Given the description of an element on the screen output the (x, y) to click on. 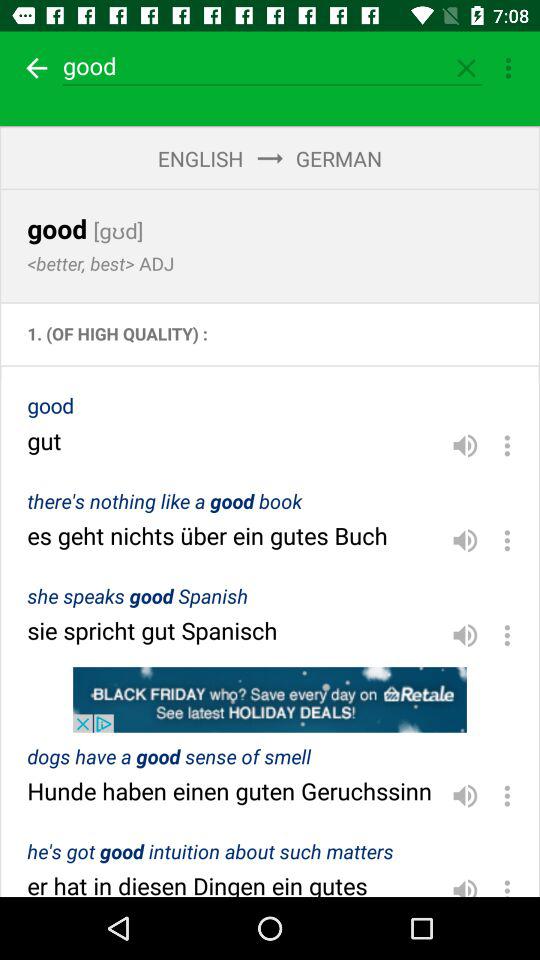
volume toggle (465, 635)
